Given the description of an element on the screen output the (x, y) to click on. 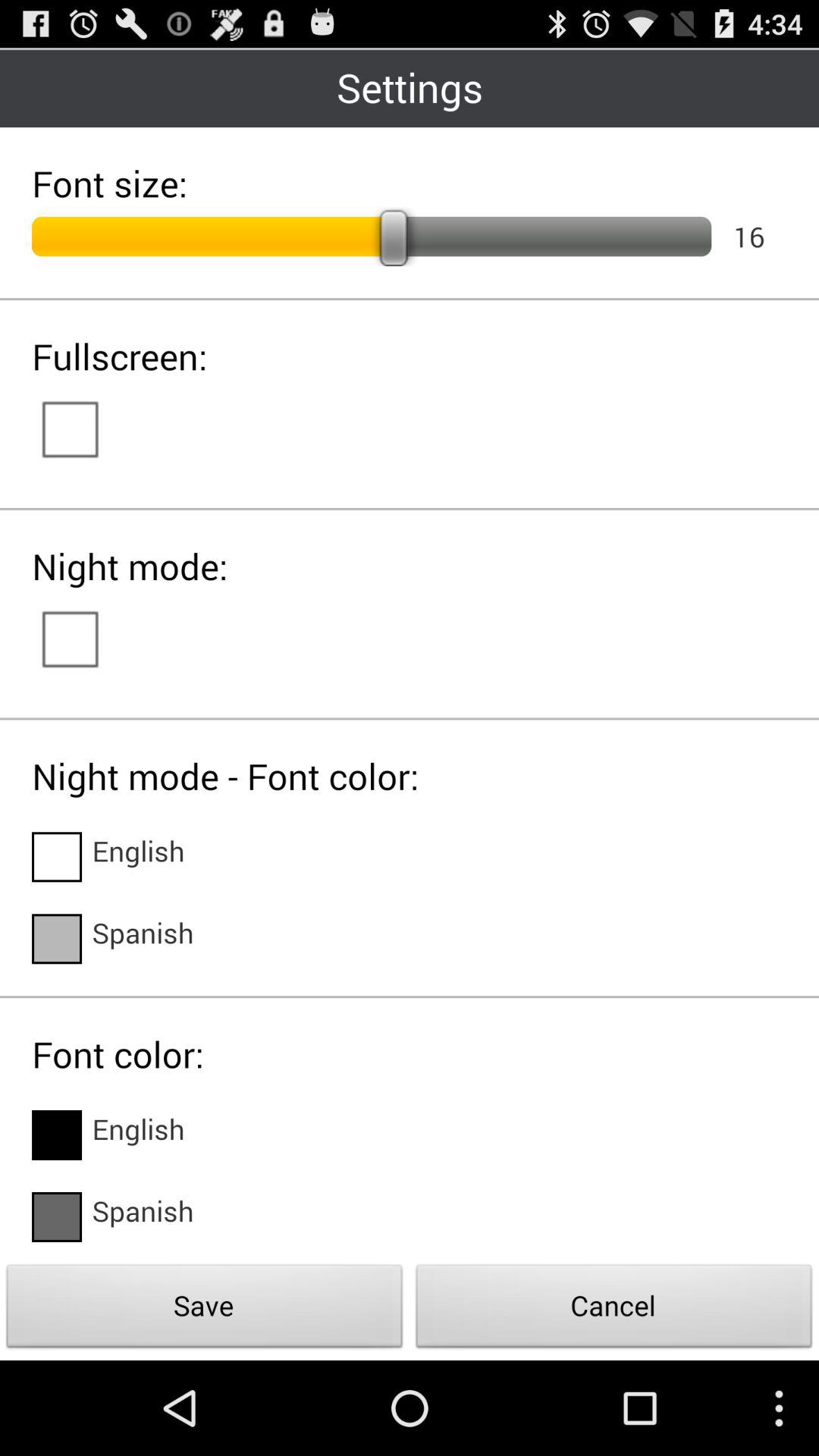
select fullscreen (85, 428)
